Given the description of an element on the screen output the (x, y) to click on. 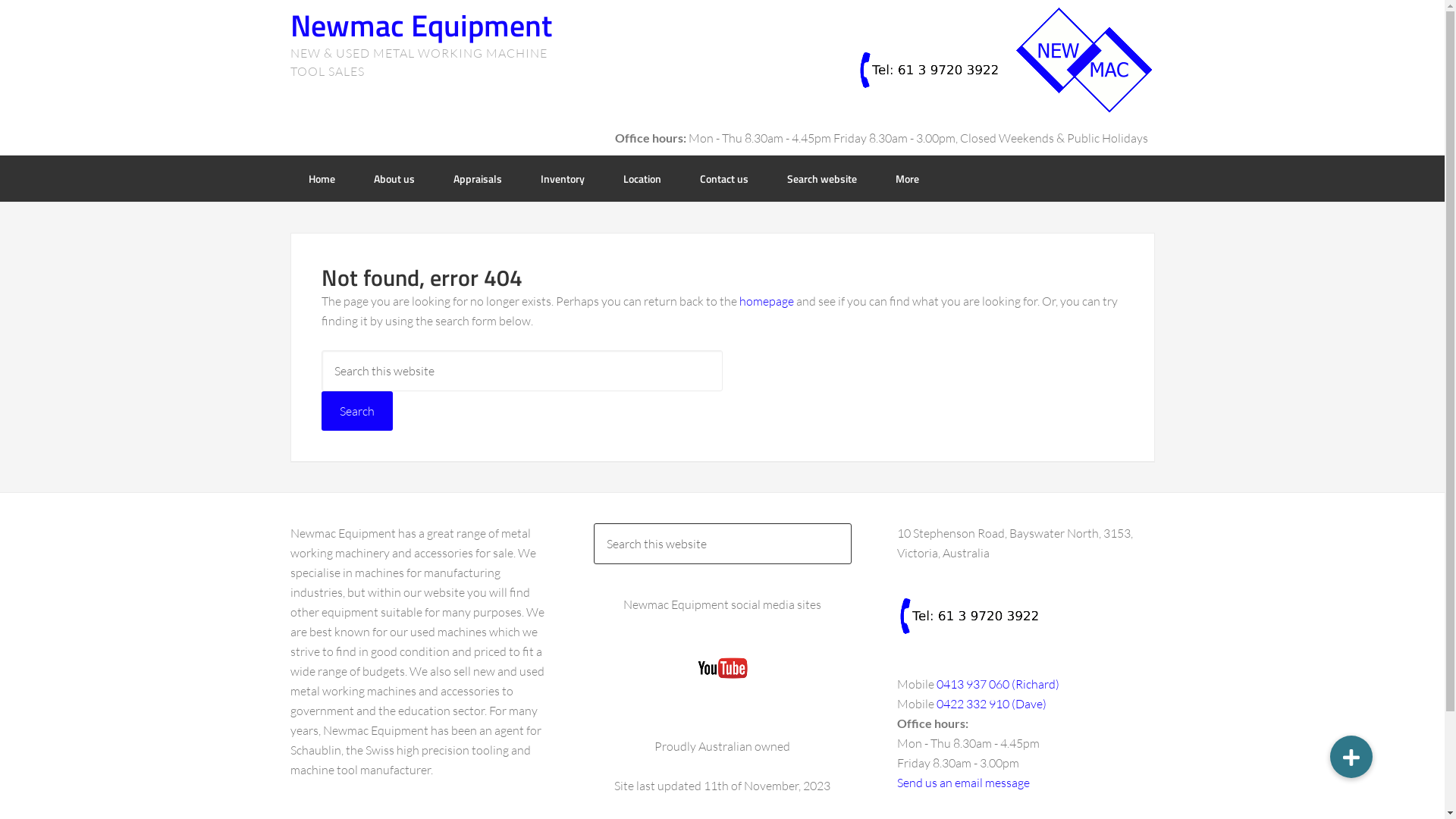
Home Element type: text (320, 178)
Search Element type: text (356, 410)
Contact us Element type: text (722, 178)
Click to ring Newmac Equipment Element type: hover (928, 69)
Newmac Equipment Element type: text (420, 25)
More Element type: text (906, 178)
Click to ring Newmac Equipment Element type: hover (968, 615)
Search website Element type: text (821, 178)
Search Element type: text (850, 522)
0413 937 060 (Richard) Element type: text (996, 683)
Inventory Element type: text (561, 178)
About us Element type: text (393, 178)
Location Element type: text (642, 178)
Send us an email message Element type: text (962, 782)
homepage Element type: text (765, 300)
0422 332 910 (Dave) Element type: text (990, 703)
Appraisals Element type: text (477, 178)
